Given the description of an element on the screen output the (x, y) to click on. 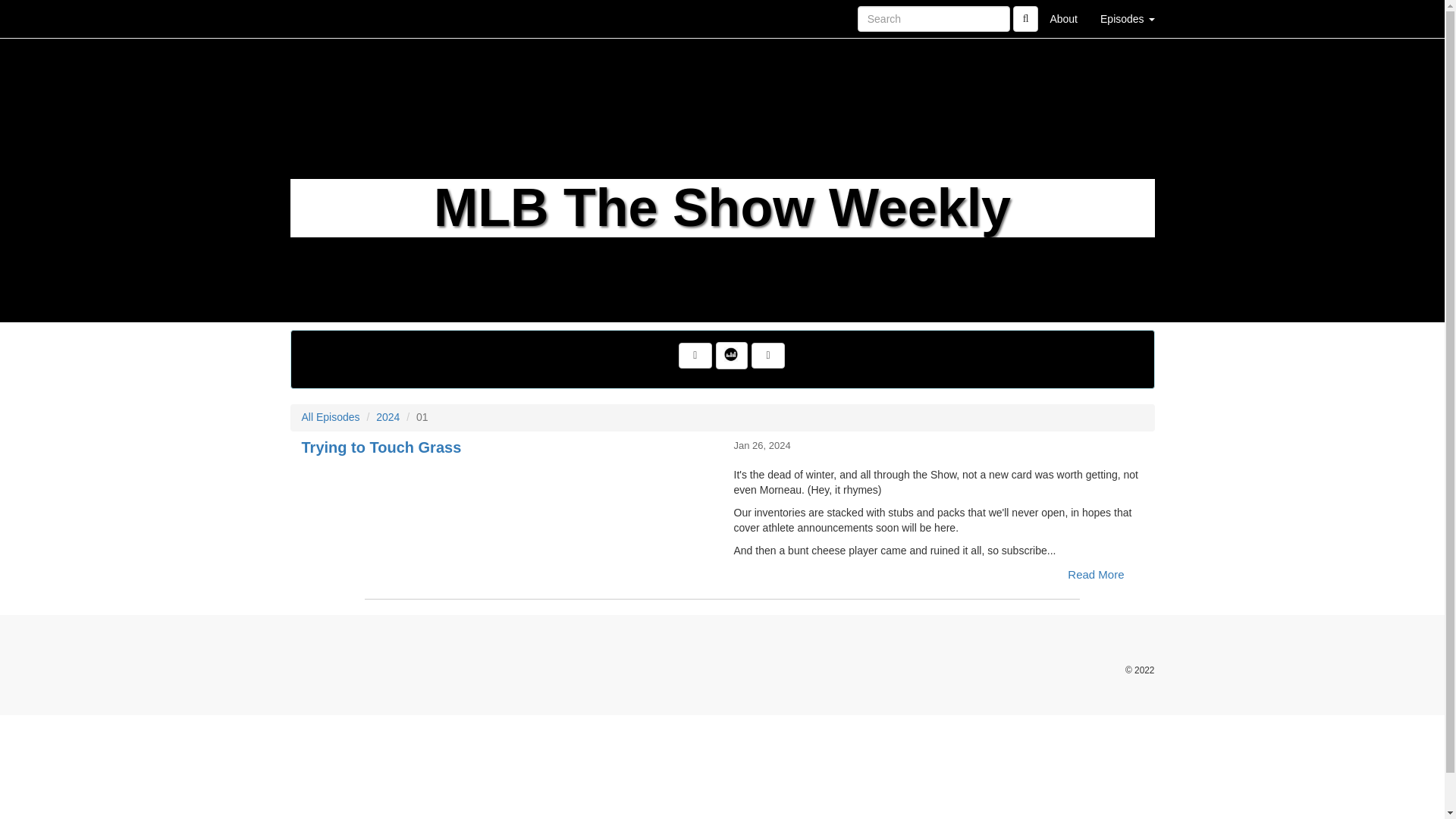
Trying to Touch Grass (506, 493)
All Episodes (330, 417)
About (1063, 18)
Home Page (320, 18)
2024 (386, 417)
Episodes (1127, 18)
